Given the description of an element on the screen output the (x, y) to click on. 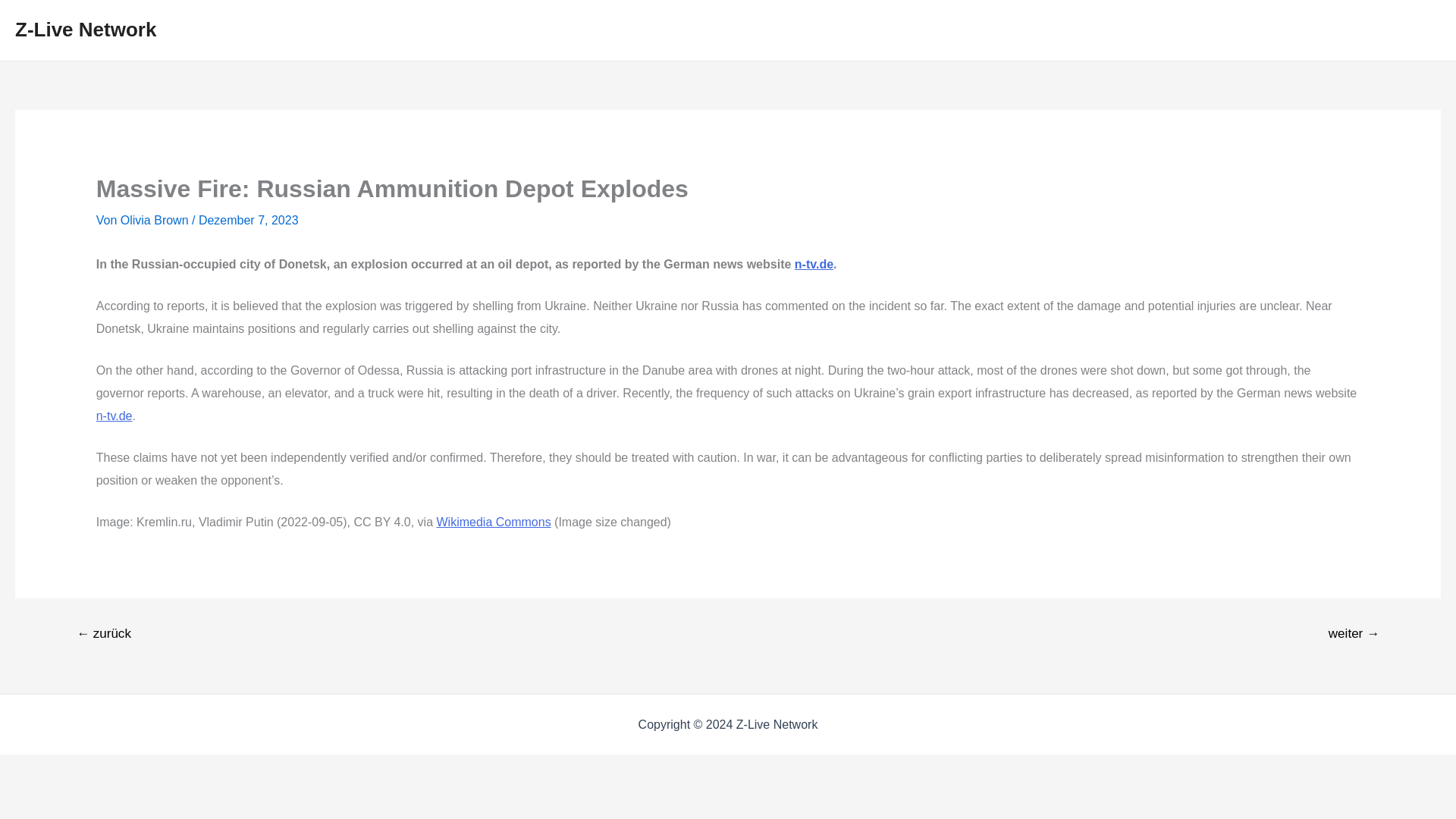
Olivia Brown (156, 219)
n-tv.de (114, 415)
n-tv.de (813, 264)
Wikimedia Commons (493, 521)
Z-Live Network (84, 29)
